Given the description of an element on the screen output the (x, y) to click on. 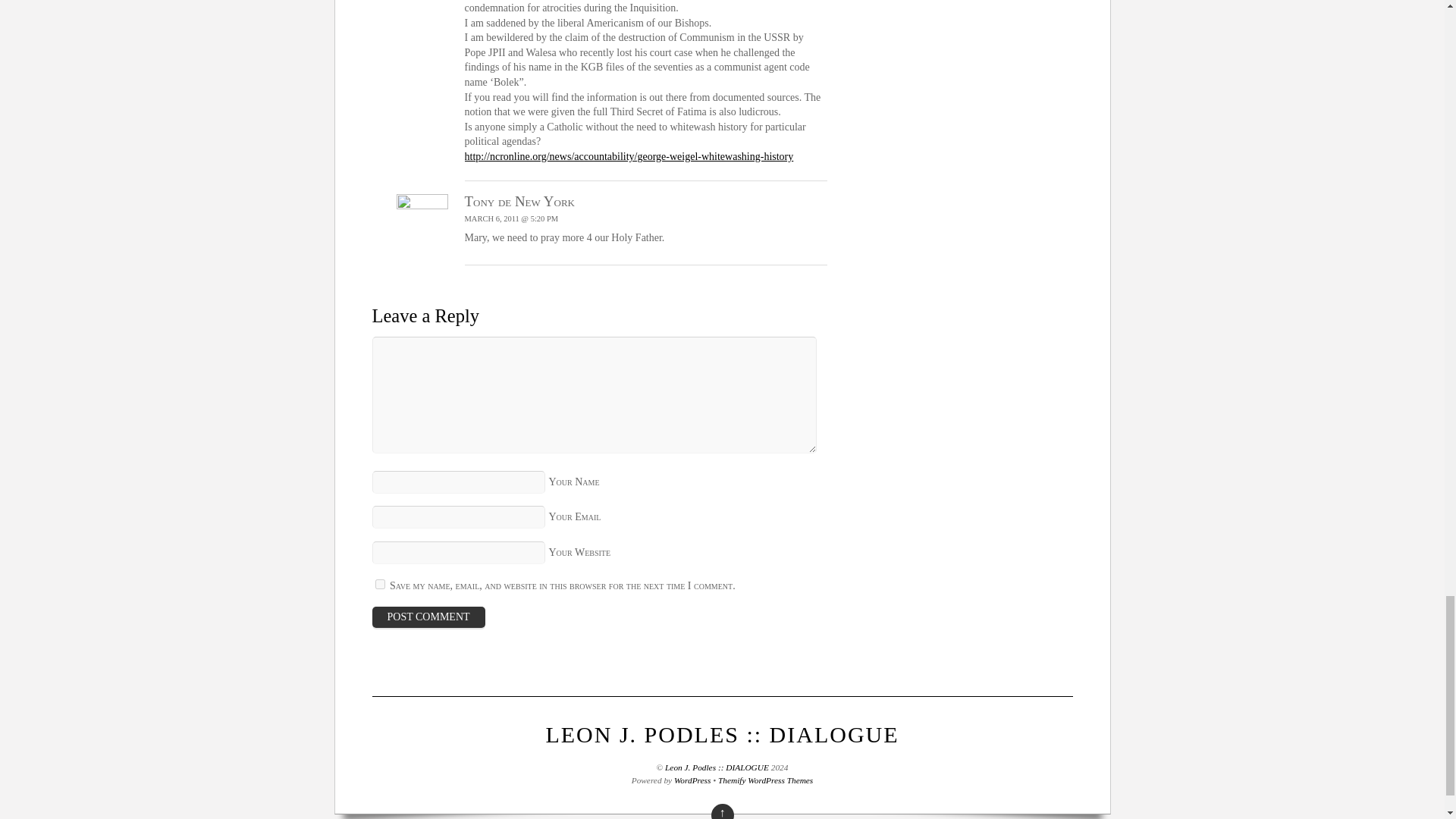
Post Comment (427, 617)
Post Comment (427, 617)
yes (379, 583)
